Given the description of an element on the screen output the (x, y) to click on. 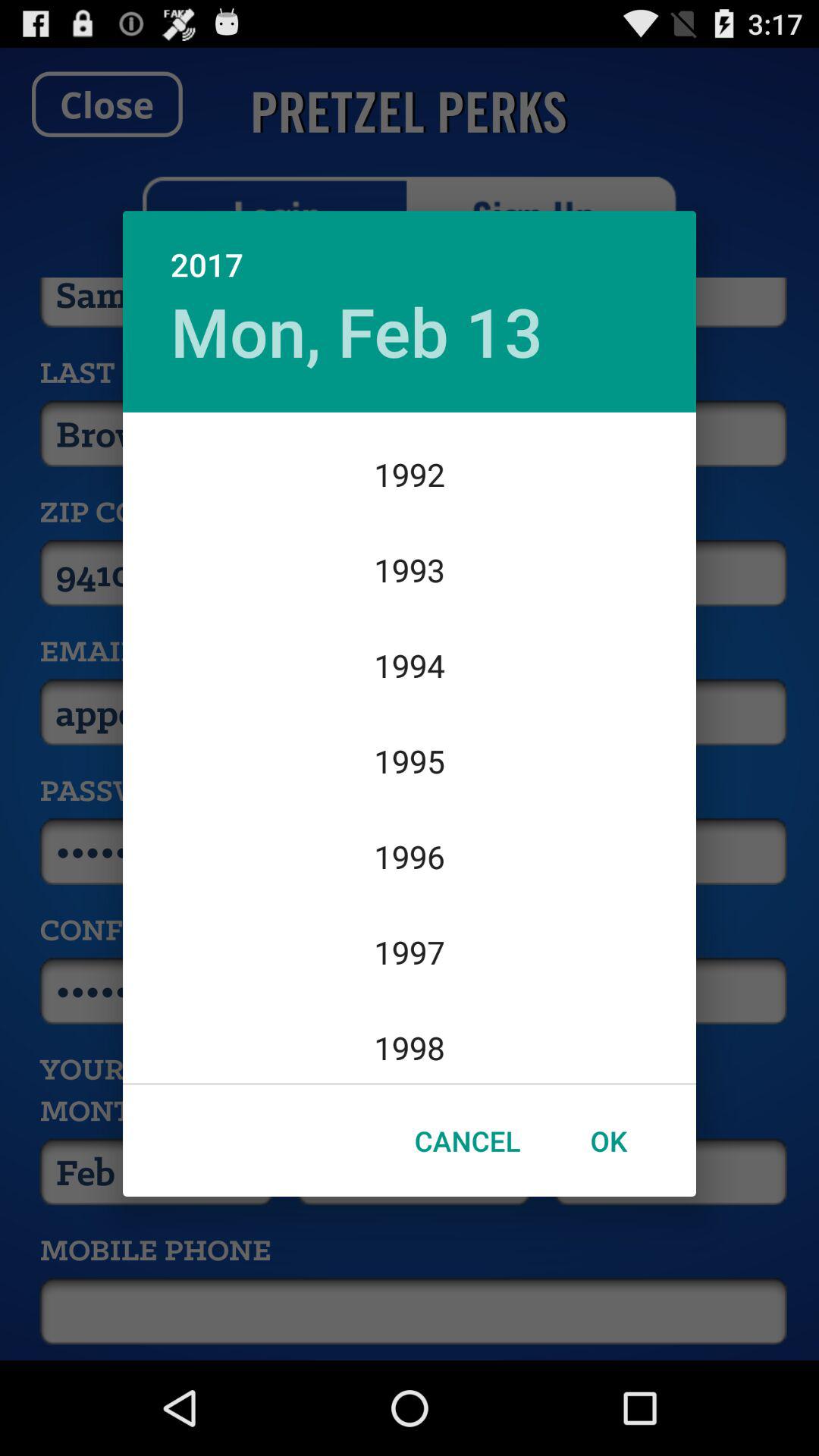
turn off the item above mon, feb 13 icon (409, 248)
